Given the description of an element on the screen output the (x, y) to click on. 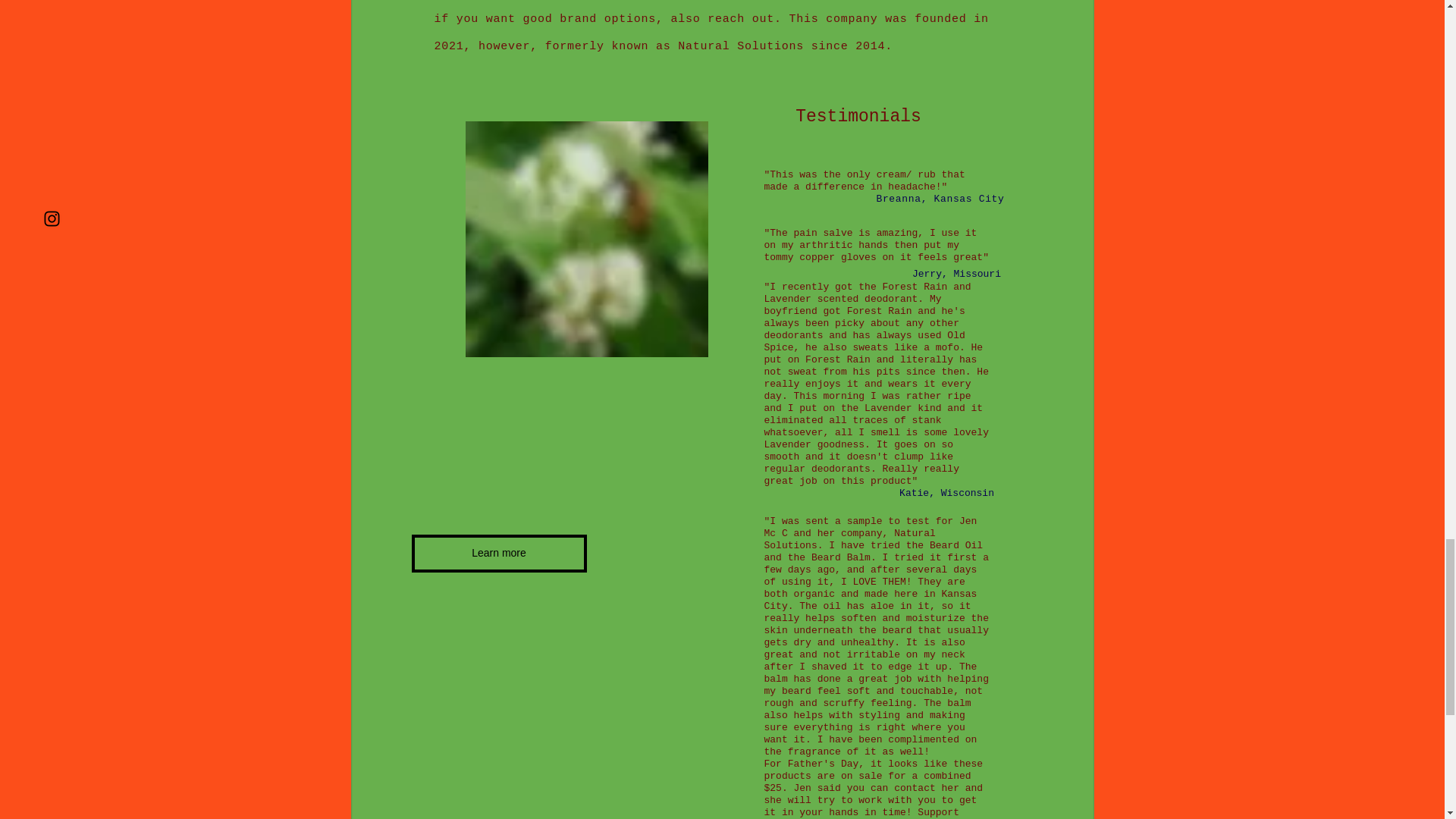
Natural Solutions (850, 539)
Jen Mc C (870, 526)
Learn more (498, 553)
